Given the description of an element on the screen output the (x, y) to click on. 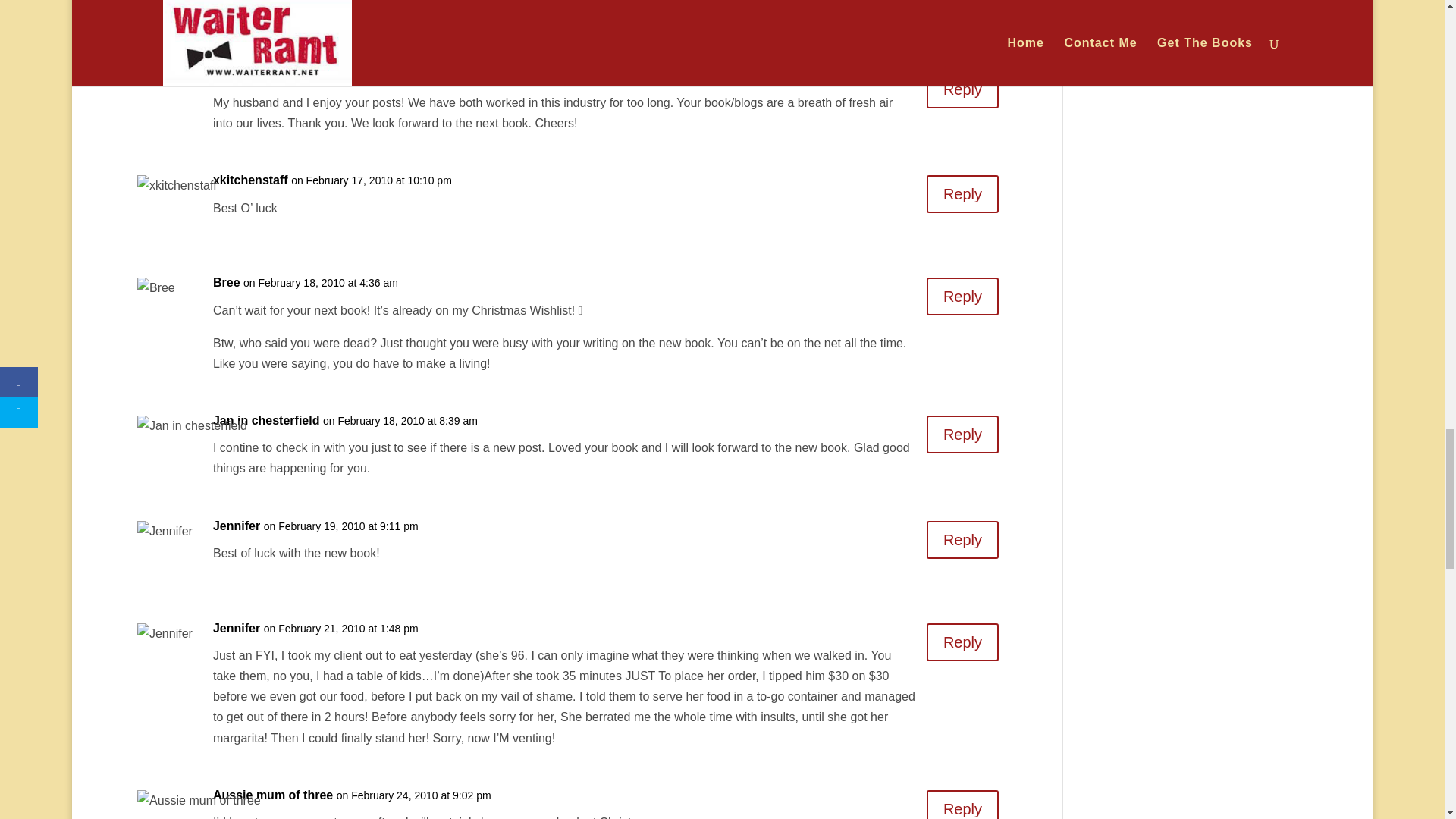
Jan in chesterfield (266, 420)
Reply (962, 193)
Reply (962, 89)
Barone (233, 75)
Reply (962, 434)
Reply (962, 296)
